Given the description of an element on the screen output the (x, y) to click on. 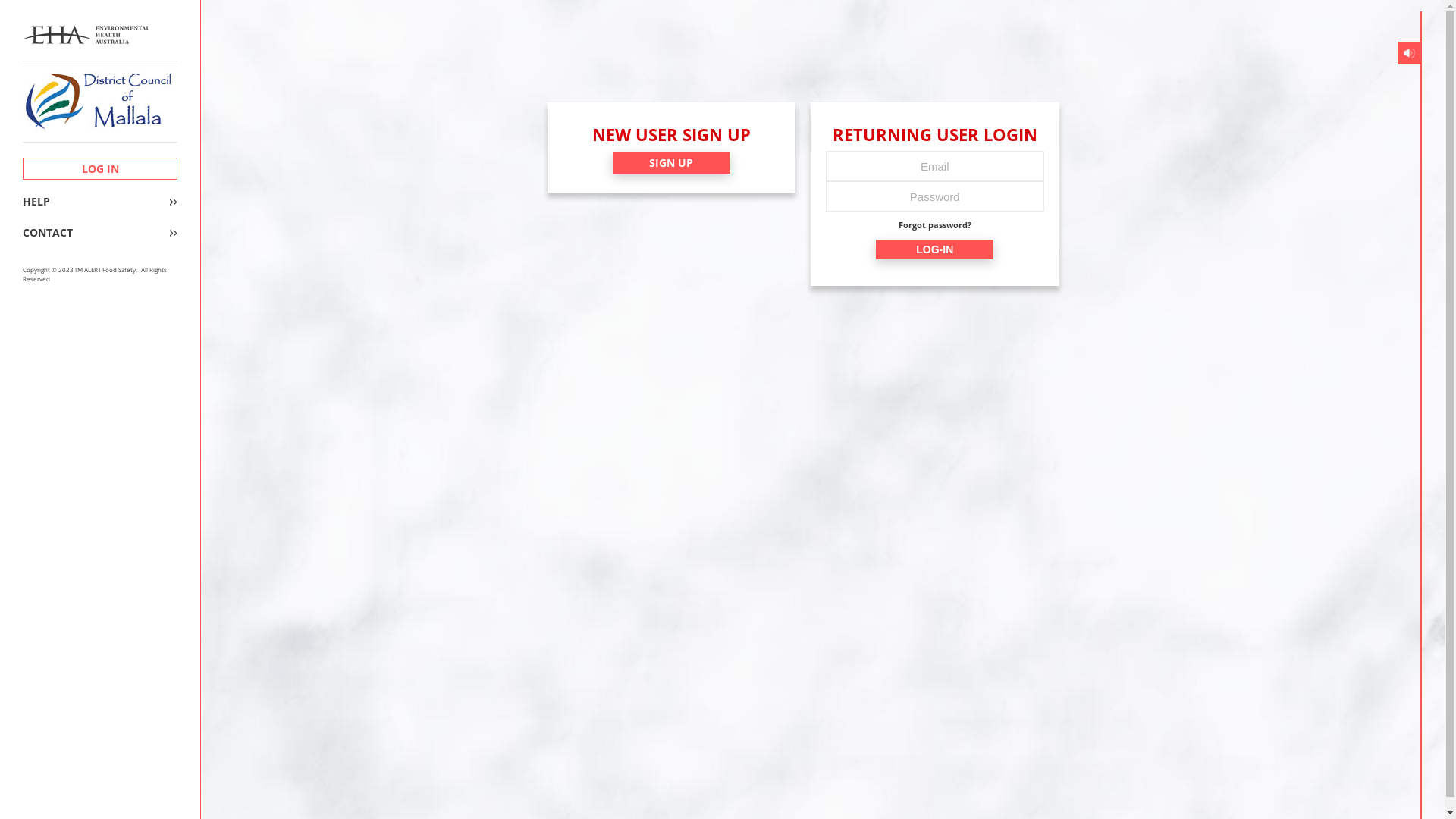
SIGN UP Element type: text (671, 162)
CONTACT Element type: text (99, 232)
LOG IN Element type: text (99, 168)
HELP Element type: text (99, 201)
LOG-IN Element type: text (934, 249)
Forgot password? Element type: text (934, 225)
